Given the description of an element on the screen output the (x, y) to click on. 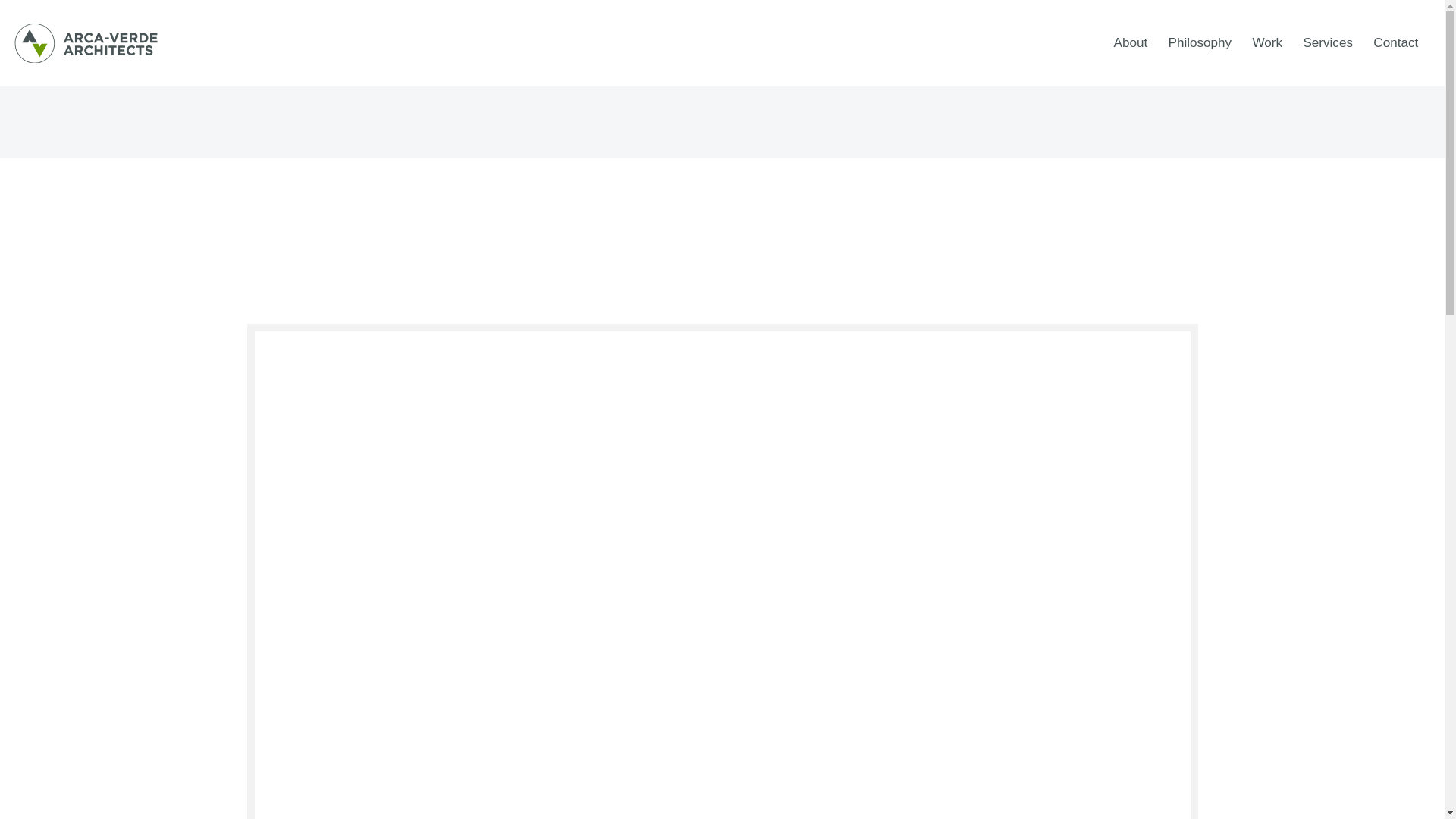
About (1130, 42)
Work (1267, 42)
Services (1327, 42)
Philosophy (1200, 42)
Contact (1396, 42)
